Given the description of an element on the screen output the (x, y) to click on. 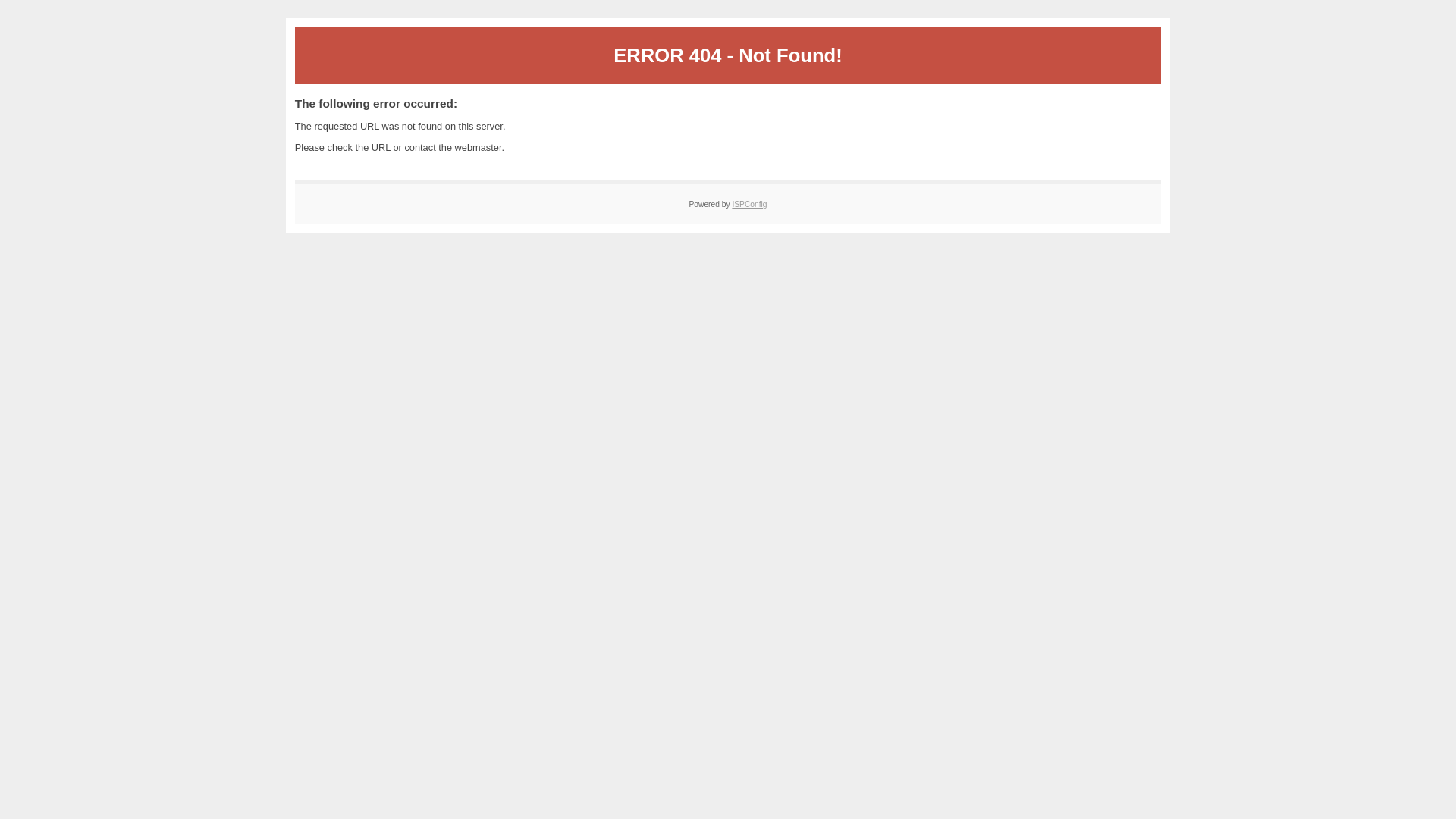
ISPConfig Element type: text (748, 204)
